Given the description of an element on the screen output the (x, y) to click on. 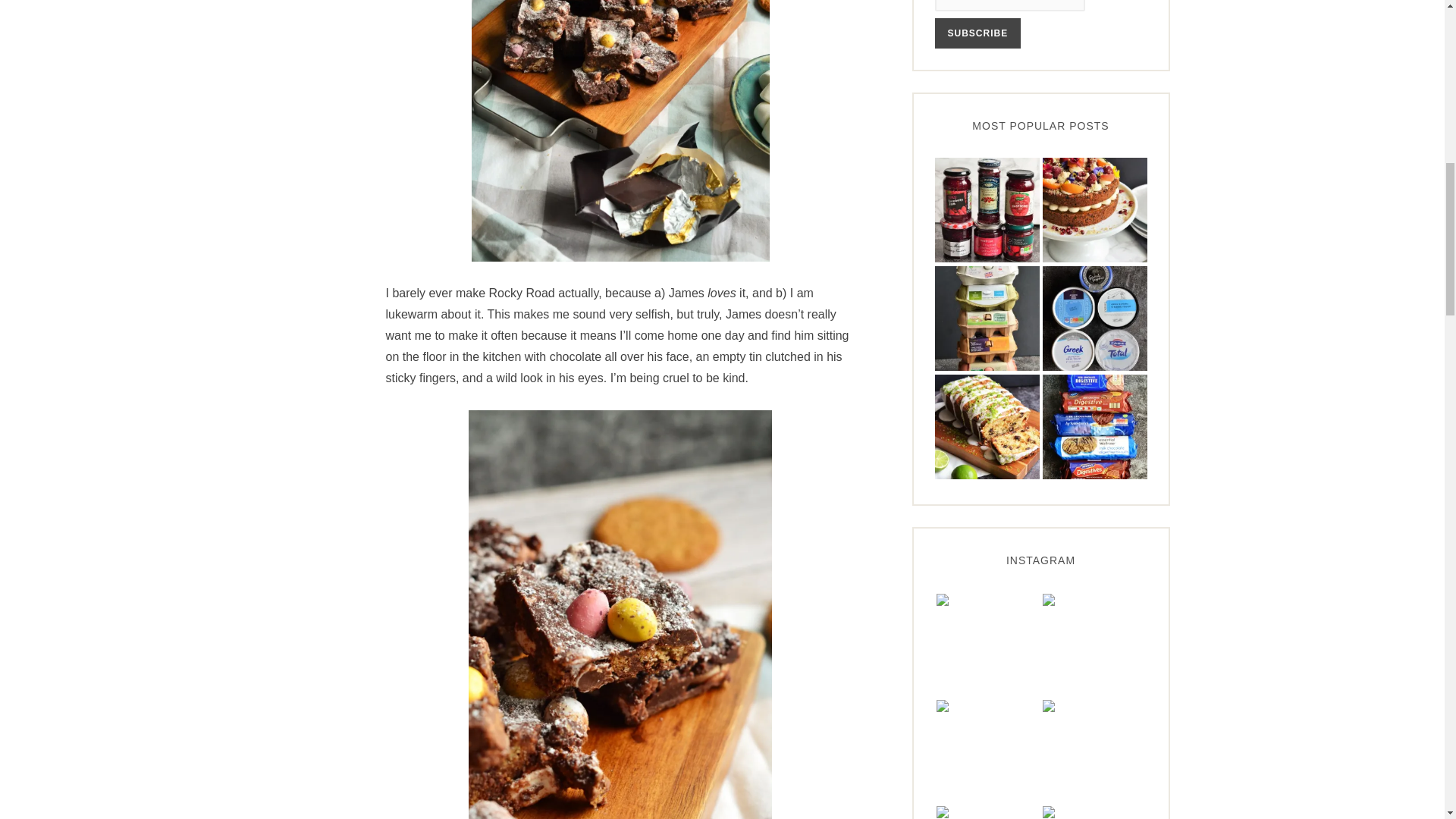
The Taste Test: Raspberry Jam (986, 210)
The Taste Test: Chocolate Digestives (1094, 426)
The Taste Test: Greek Yoghurt (1094, 318)
Subscribe (977, 33)
Subscribe (977, 33)
The Taste Test: Eggs (986, 318)
